Given the description of an element on the screen output the (x, y) to click on. 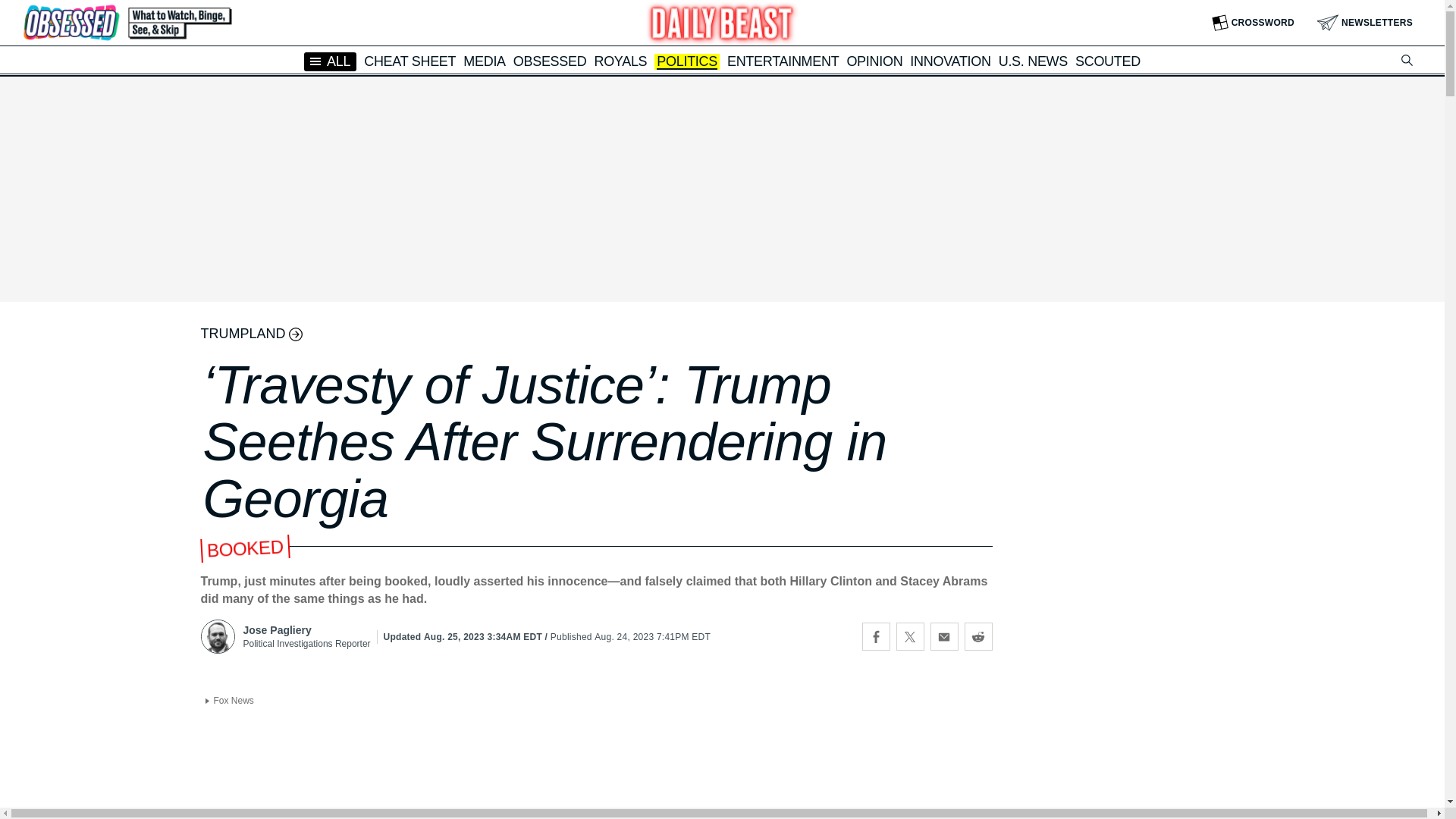
ROYALS (620, 60)
CHEAT SHEET (409, 60)
CROSSWORD (1252, 22)
ALL (330, 60)
OBSESSED (549, 60)
NEWSLETTERS (1364, 22)
SCOUTED (1107, 60)
INNOVATION (950, 60)
MEDIA (484, 60)
U.S. NEWS (1032, 60)
